Given the description of an element on the screen output the (x, y) to click on. 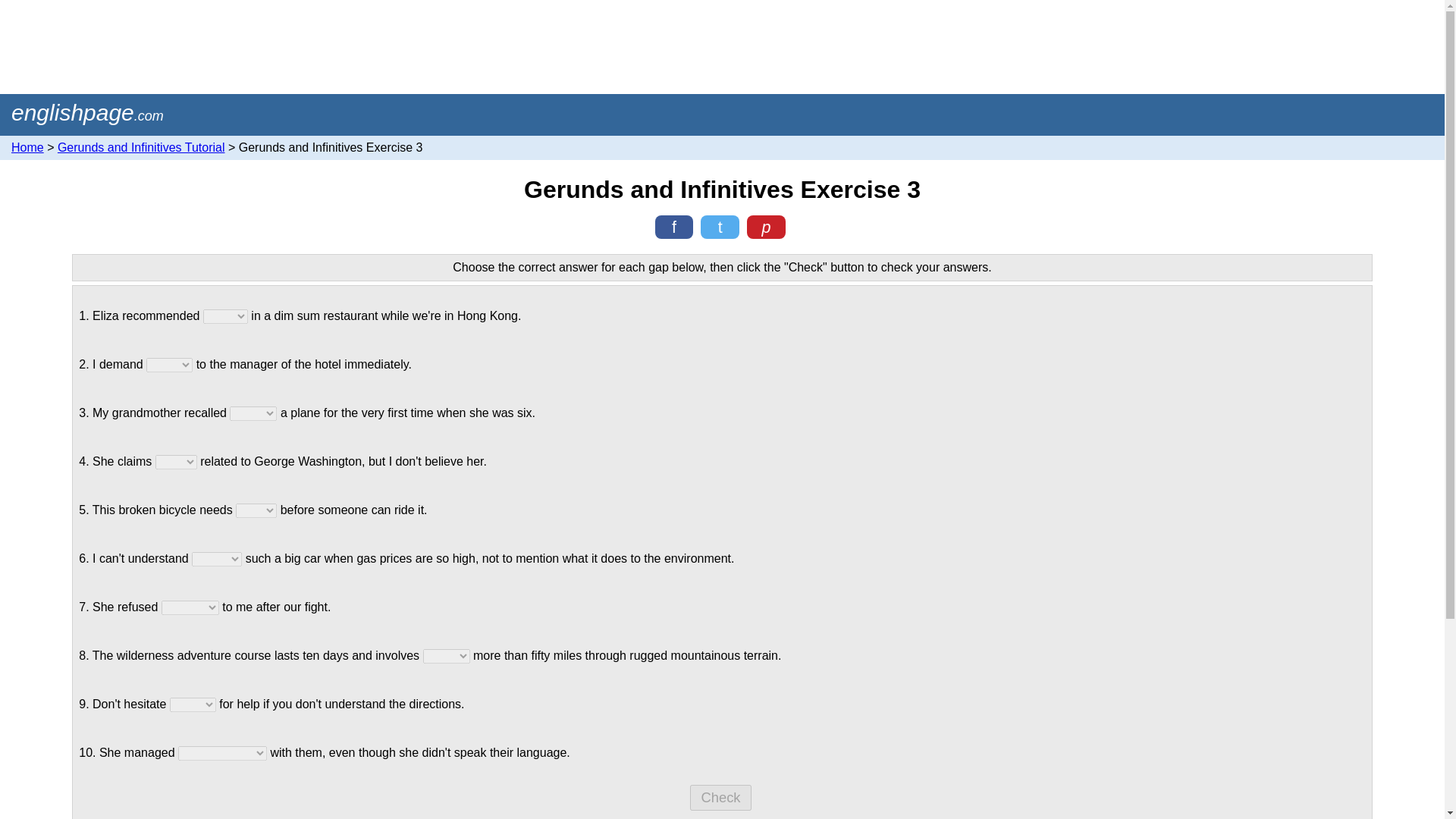
t (719, 226)
Home (27, 146)
 Check  (720, 797)
p (766, 226)
Home (87, 112)
Gerunds and Infinitives Tutorial (141, 146)
f (674, 226)
englishpage.com (87, 112)
